Given the description of an element on the screen output the (x, y) to click on. 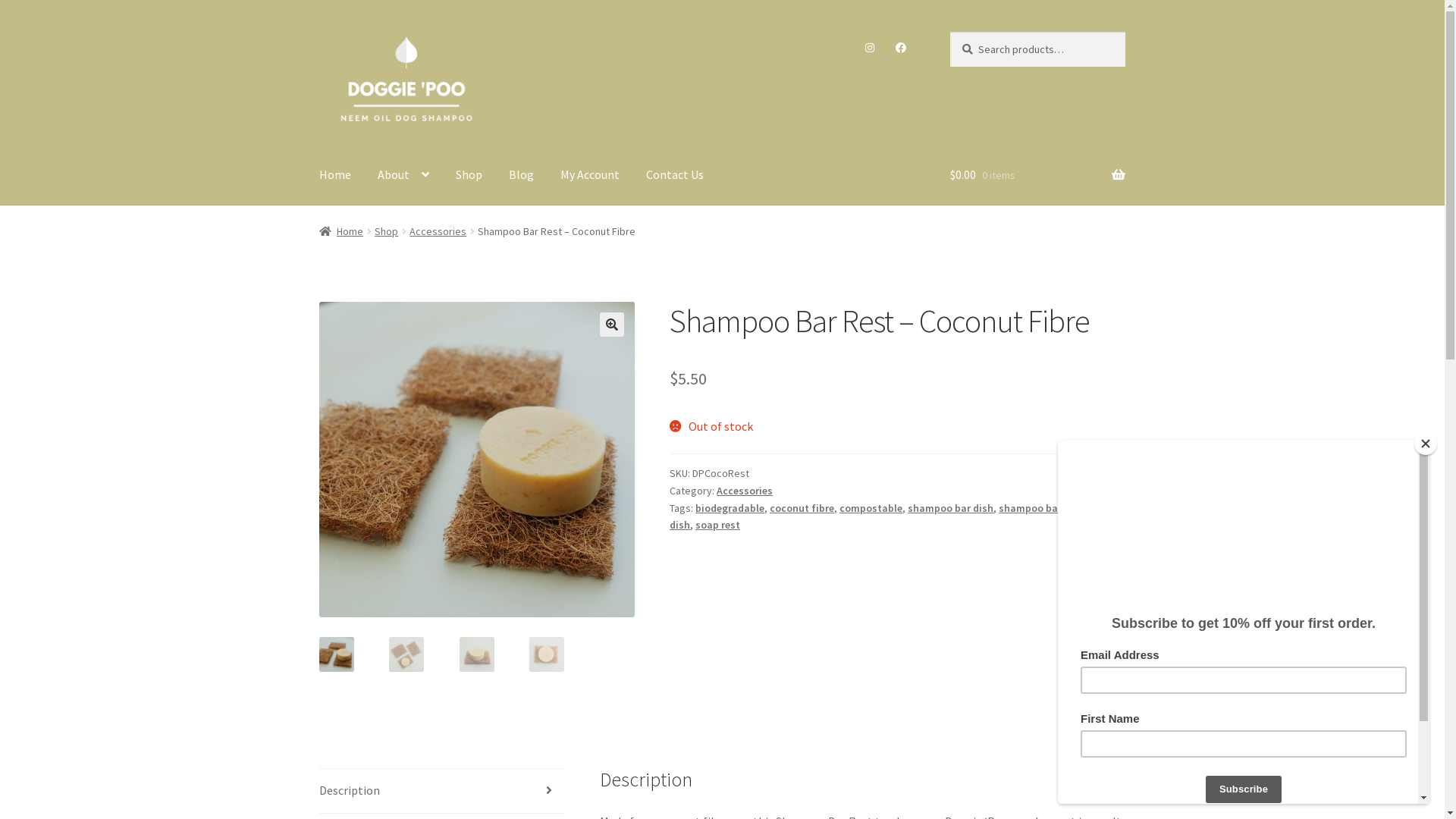
$0.00 0 items Element type: text (1037, 174)
Description Element type: text (441, 790)
coconut fibre Element type: text (801, 507)
Instagram Element type: text (870, 47)
Facebook Element type: text (900, 47)
Shop Element type: text (468, 174)
soap rest Element type: text (717, 524)
shampoo bar dish Element type: text (950, 507)
Contact Us Element type: text (674, 174)
soap dish Element type: text (890, 516)
My Account Element type: text (589, 174)
Accessories Element type: text (437, 231)
Shampoo Bar Rest - Coconut Fibre Element type: hover (476, 459)
Accessories Element type: text (744, 490)
About Element type: text (403, 174)
biodegradable Element type: text (729, 507)
Photo 10-1-20, 10 24 12 pm Element type: hover (792, 459)
Blog Element type: text (521, 174)
Search Element type: text (949, 31)
Shop Element type: text (386, 231)
Home Element type: text (341, 231)
Home Element type: text (335, 174)
compostable Element type: text (870, 507)
shampoo bar rest Element type: text (1040, 507)
Skip to navigation Element type: text (318, 31)
